Given the description of an element on the screen output the (x, y) to click on. 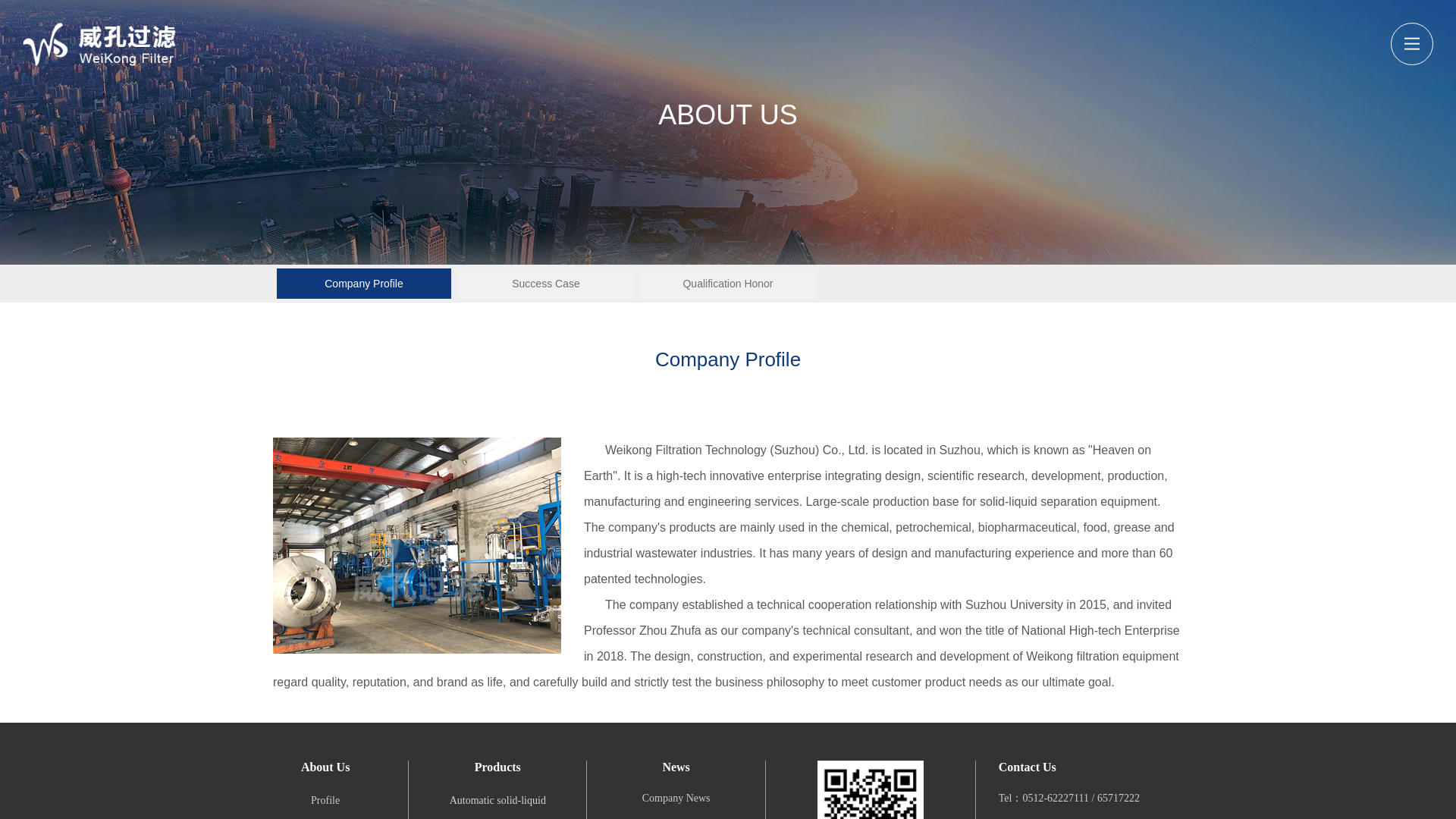
Success Case (545, 283)
Industry News (676, 818)
Qualification Honor (727, 283)
Company Profile (363, 283)
0512-62227111 (1055, 797)
Profile (325, 799)
Automatic solid-liquid (497, 799)
65717222 (1118, 797)
Company News (676, 797)
